Given the description of an element on the screen output the (x, y) to click on. 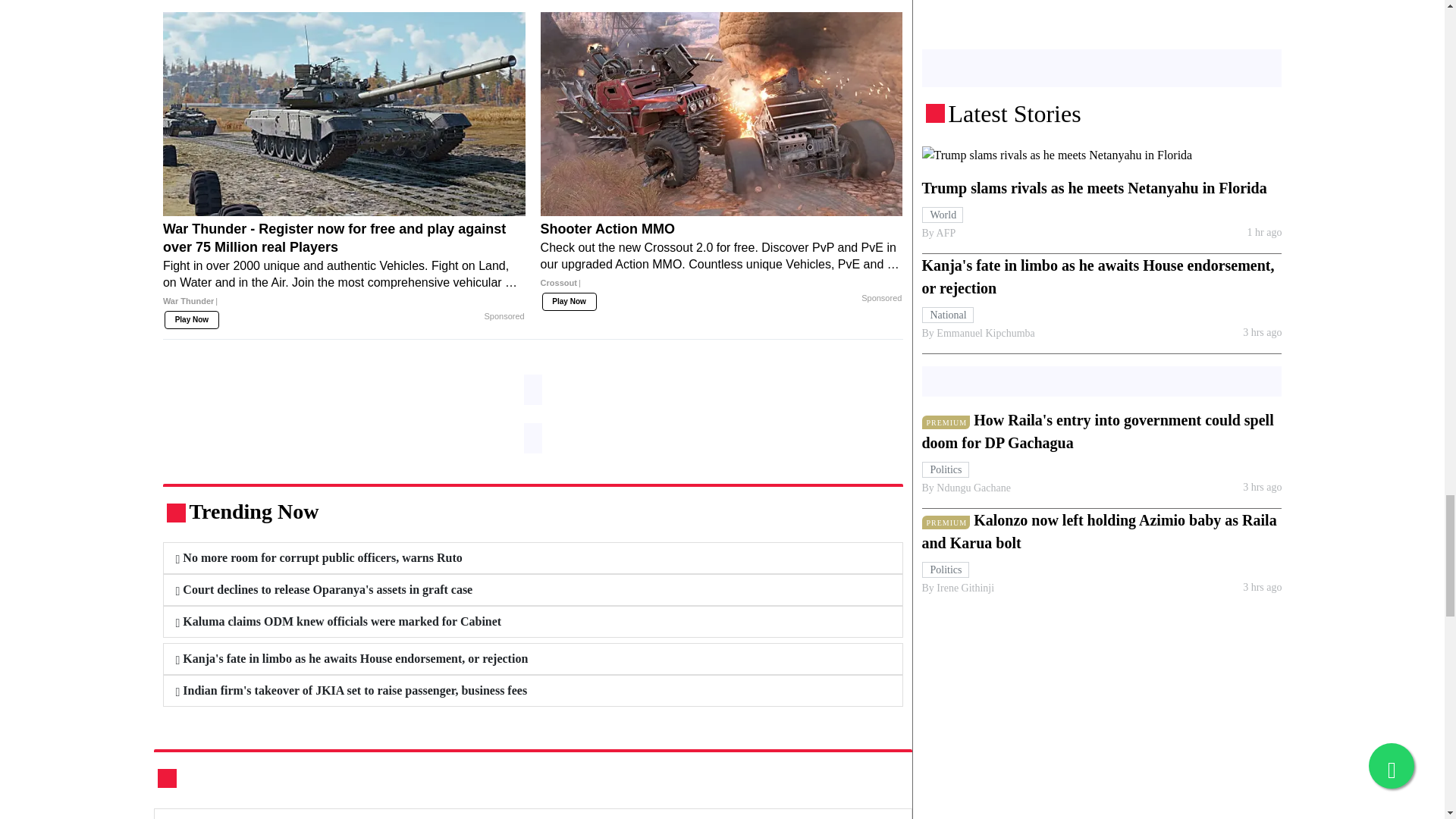
Shooter Action MMO (721, 261)
